Given the description of an element on the screen output the (x, y) to click on. 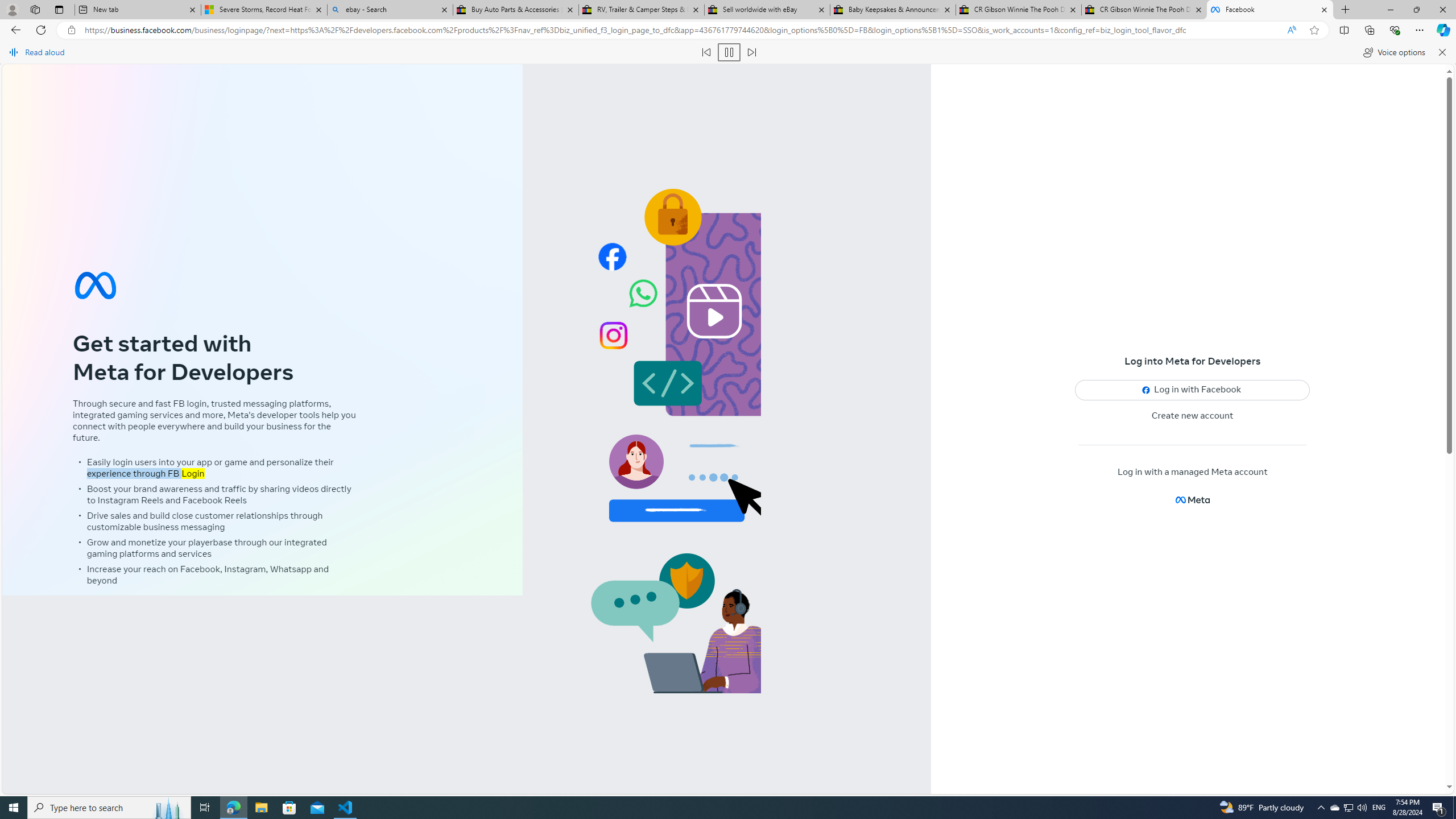
Log in with a managed Meta account (1192, 471)
Facebook (1270, 9)
ebay - Search (389, 9)
Buy Auto Parts & Accessories | eBay (515, 9)
Voice options (1393, 52)
Sell worldwide with eBay (766, 9)
Meta logo (1191, 499)
